Given the description of an element on the screen output the (x, y) to click on. 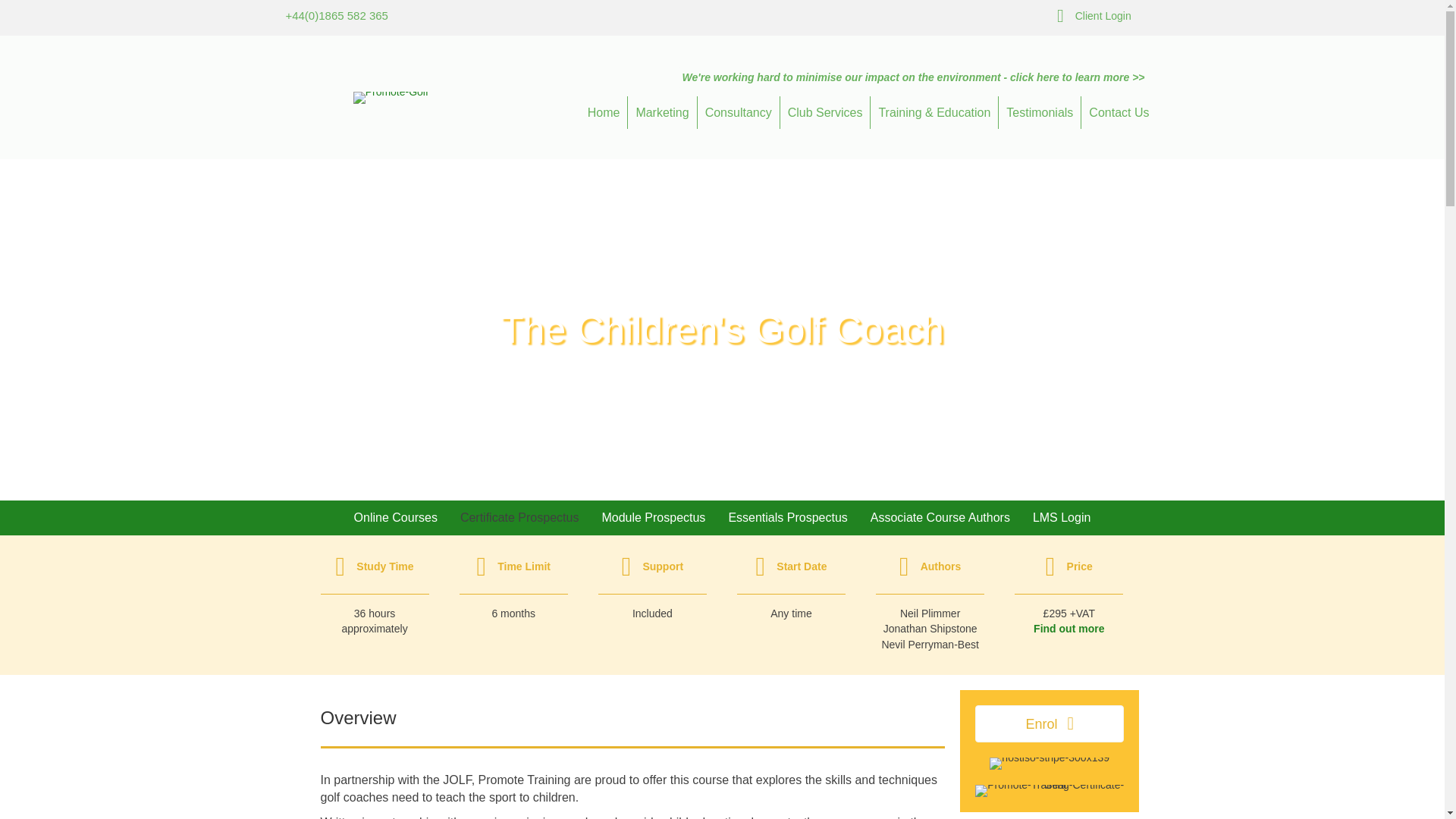
Consultancy (737, 112)
Promote-Golf-Logo-2 (390, 97)
Home (603, 112)
Club Services (825, 112)
hostiso-stripe-300x139 (1049, 763)
Promote-Training-Certificate-Seal (1049, 790)
Client Login (1103, 15)
Marketing (661, 112)
